Given the description of an element on the screen output the (x, y) to click on. 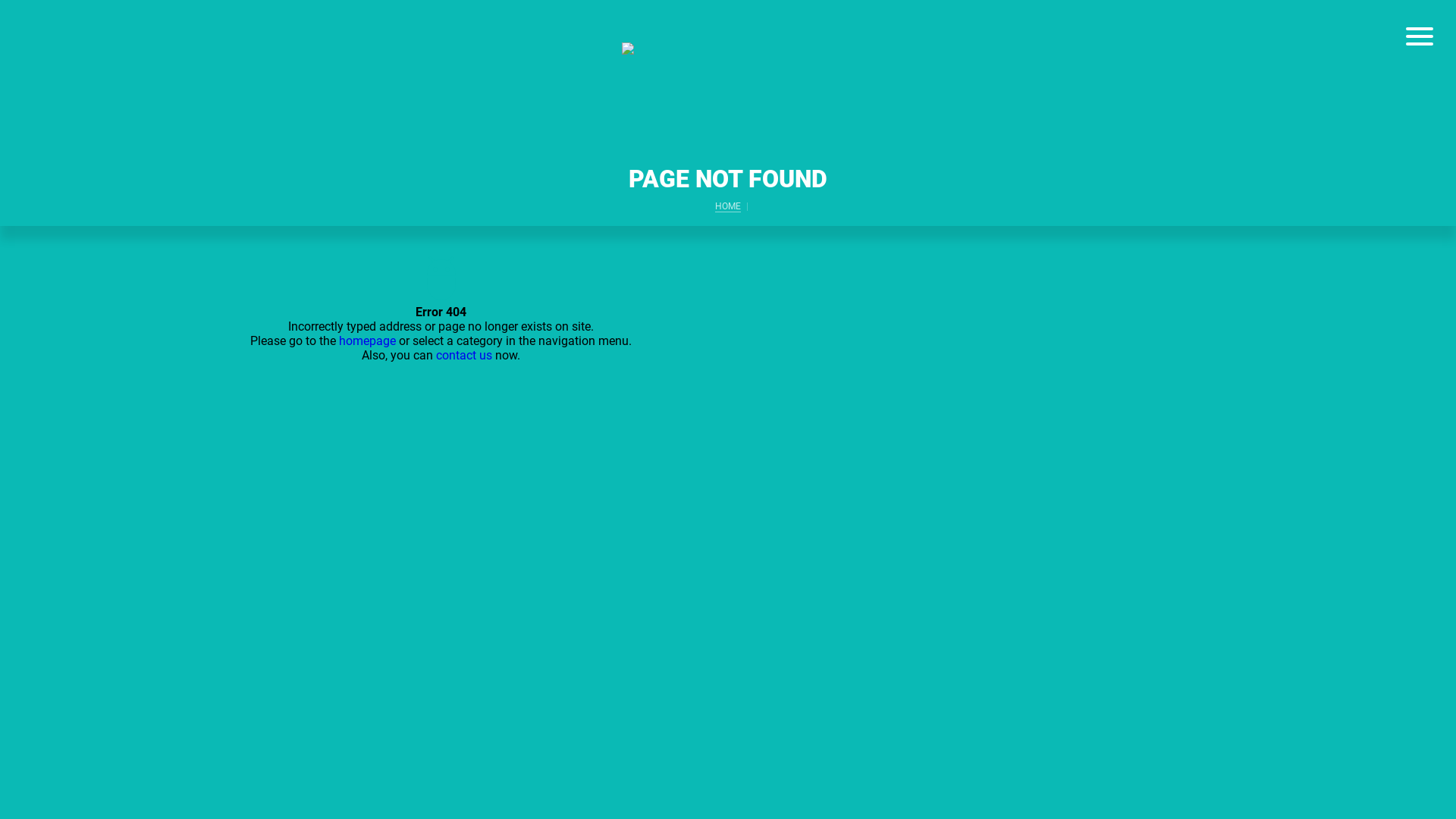
contact us Element type: text (464, 355)
HOME Element type: text (727, 206)
EventOn.com.au Home Page Element type: hover (727, 74)
homepage Element type: text (366, 340)
